Given the description of an element on the screen output the (x, y) to click on. 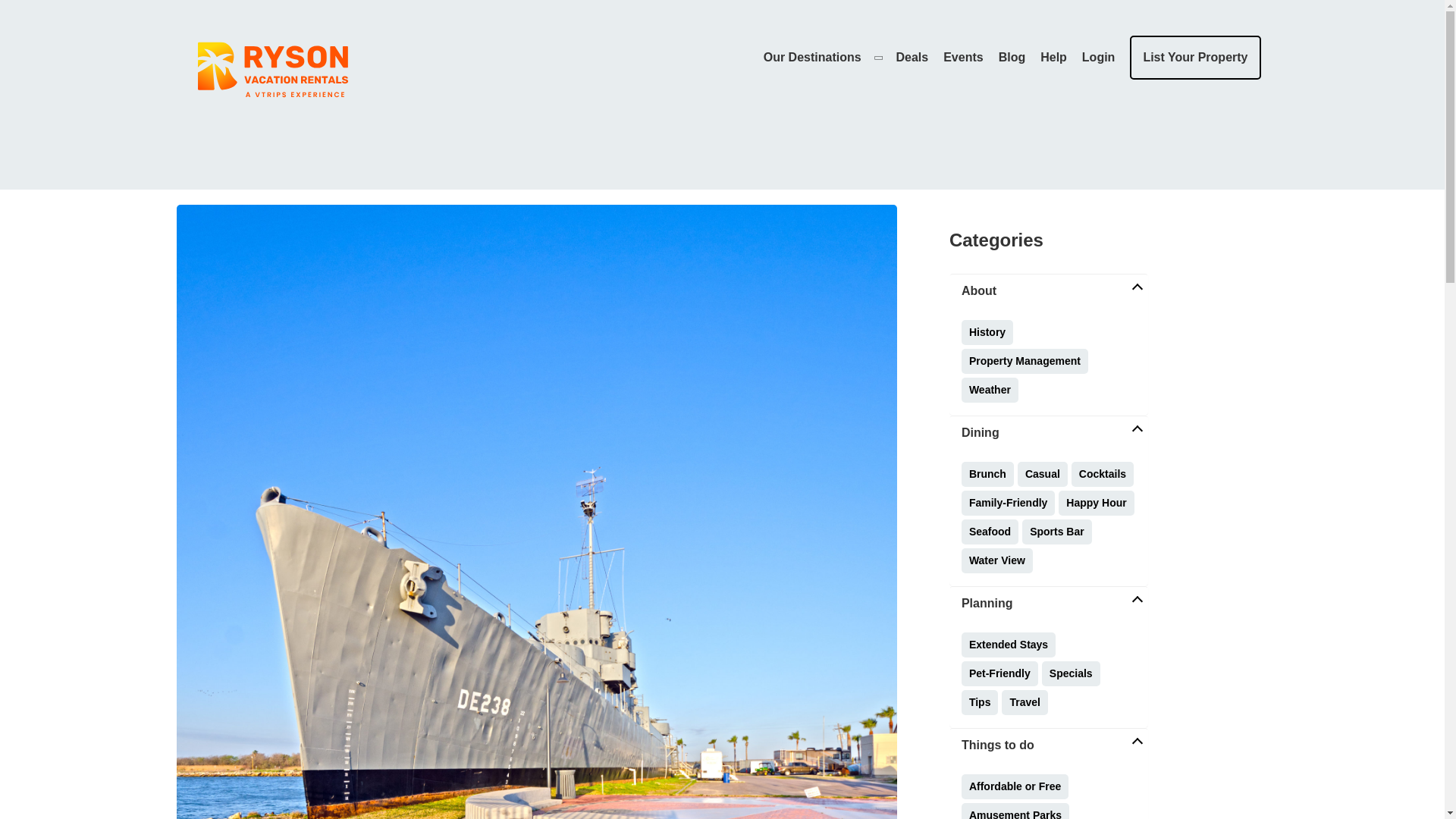
Happy Hour (1096, 502)
Sports Bar (1057, 531)
Seafood (988, 531)
Help (1054, 57)
Login (1098, 57)
Property Management (1023, 360)
Casual (1042, 473)
Brunch (986, 473)
Amusement Parks (1014, 811)
List Your Property (1194, 57)
Our Destinations (821, 57)
History (986, 332)
Blog (1012, 57)
Cocktails (1102, 473)
Tips (979, 702)
